Given the description of an element on the screen output the (x, y) to click on. 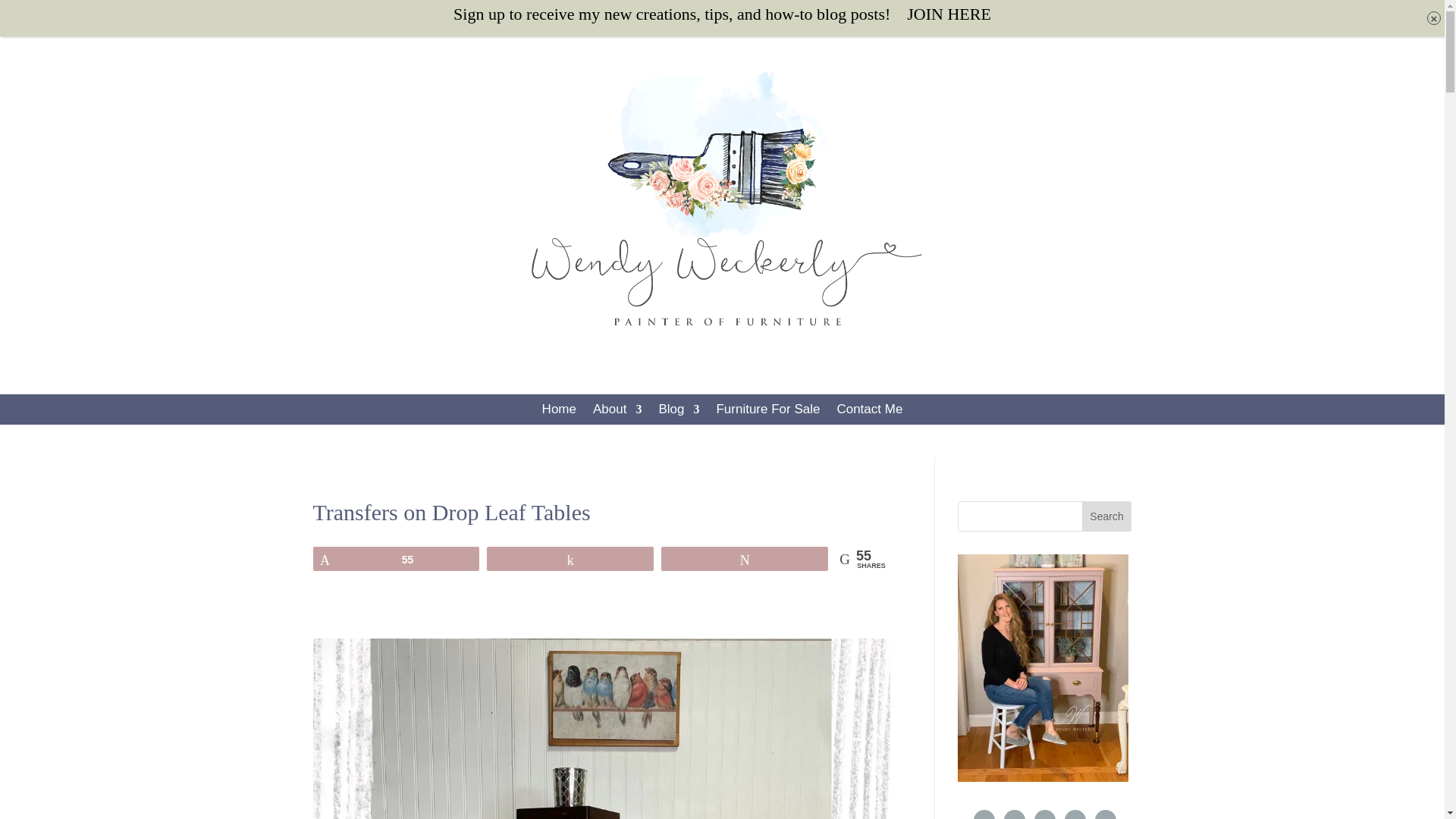
Blog (678, 412)
2 Drop Leaf Tables (601, 728)
Search (1106, 516)
55 (396, 558)
About (617, 412)
Home (558, 412)
Search (1106, 516)
Contact Me (868, 412)
Furniture For Sale (767, 412)
